Given the description of an element on the screen output the (x, y) to click on. 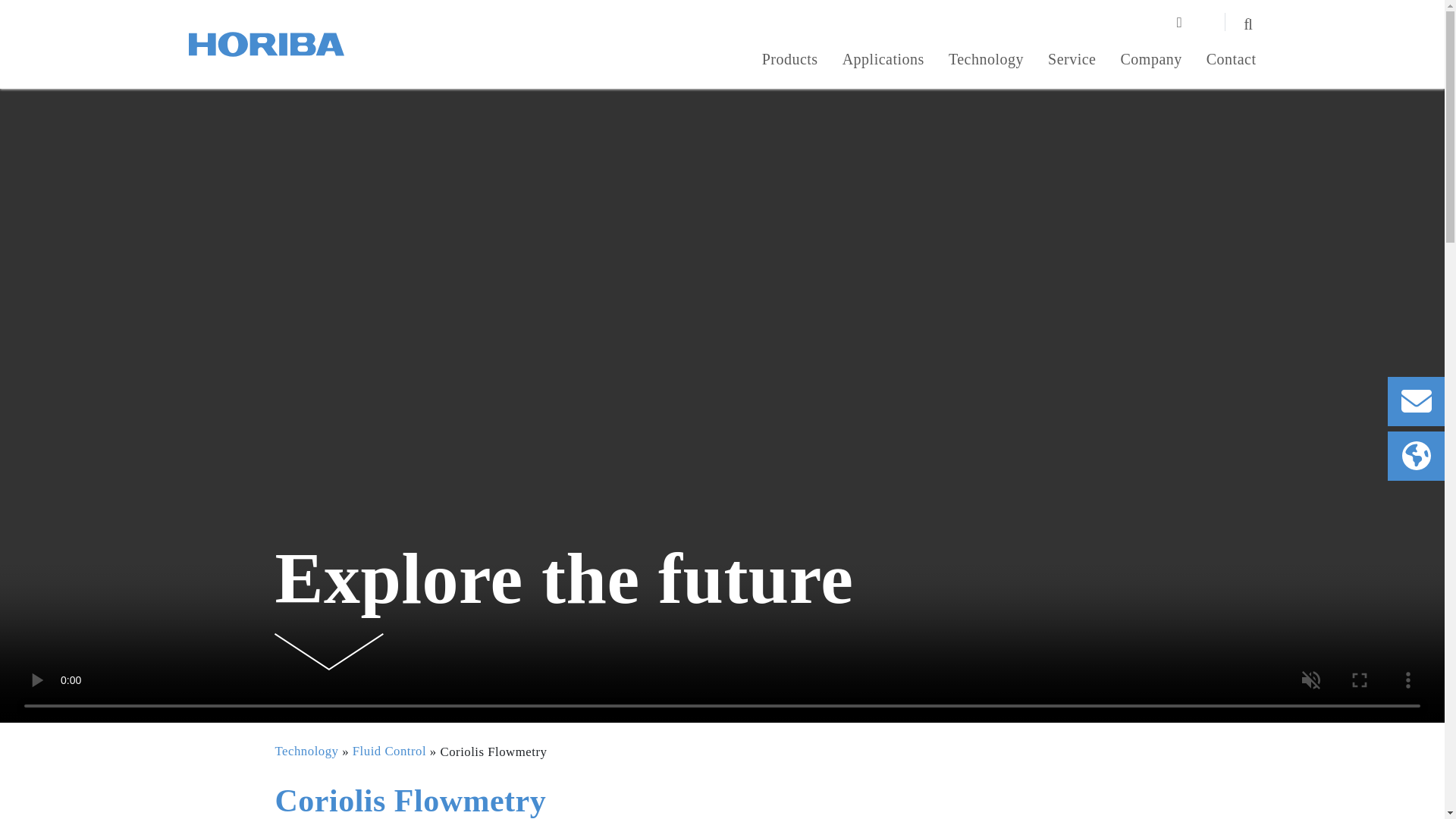
HORIBA (265, 43)
Service (1072, 61)
Contact (1231, 61)
Products (789, 61)
Technology (986, 61)
Applications (883, 61)
Products (789, 61)
Company (1151, 61)
